Given the description of an element on the screen output the (x, y) to click on. 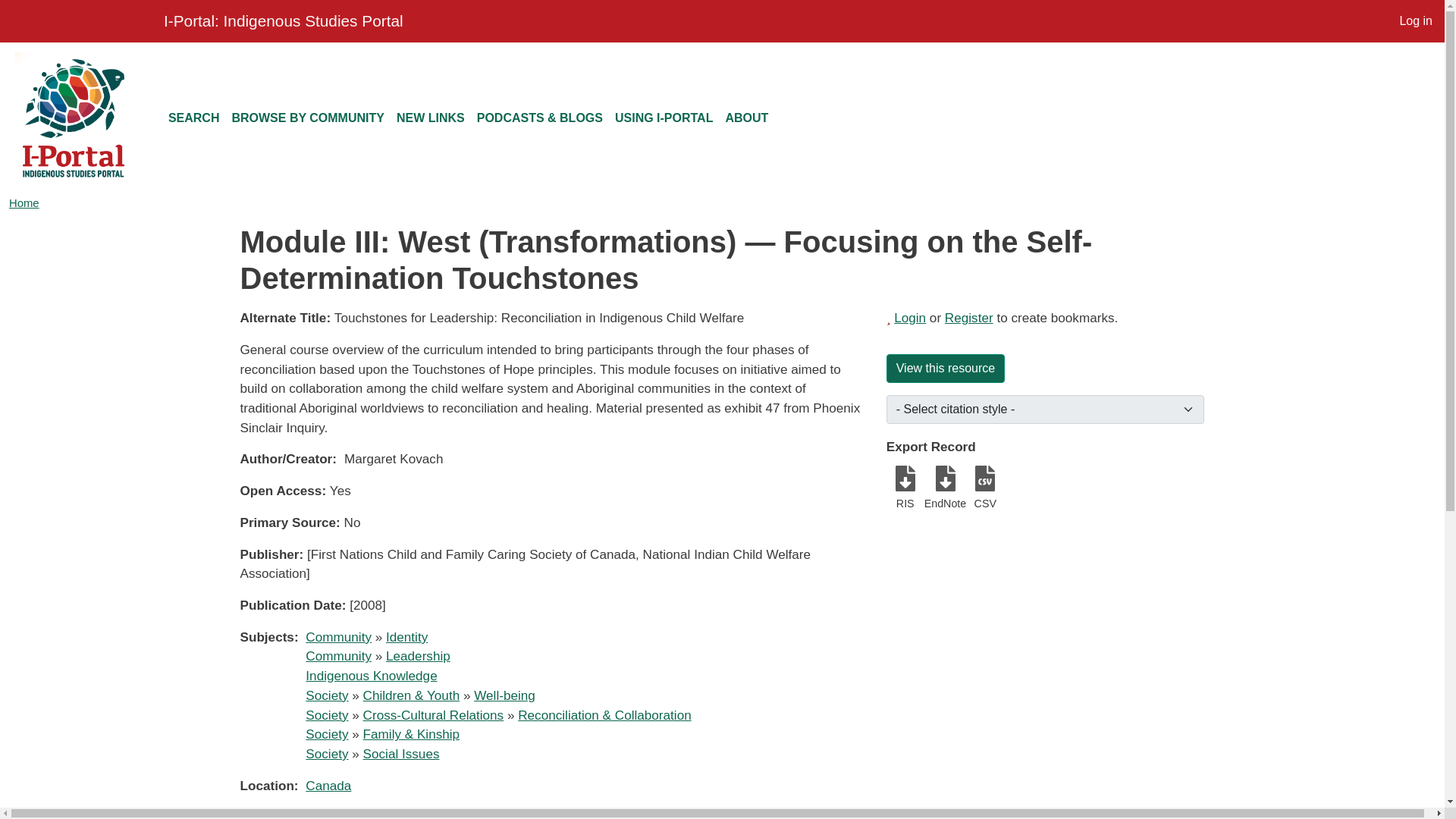
Canada (327, 785)
Register (968, 317)
ABOUT (746, 118)
I-Portal: Indigenous Studies Portal (283, 20)
Community (338, 655)
Log in (1415, 20)
Society (326, 714)
Kovach, Margaret (481, 814)
Society (326, 734)
NEW LINKS (430, 118)
Social Issues (400, 753)
Indigenous Knowledge (370, 675)
Home (23, 203)
University Library, University of Saskatchewan (79, 22)
Well-being (504, 694)
